Given the description of an element on the screen output the (x, y) to click on. 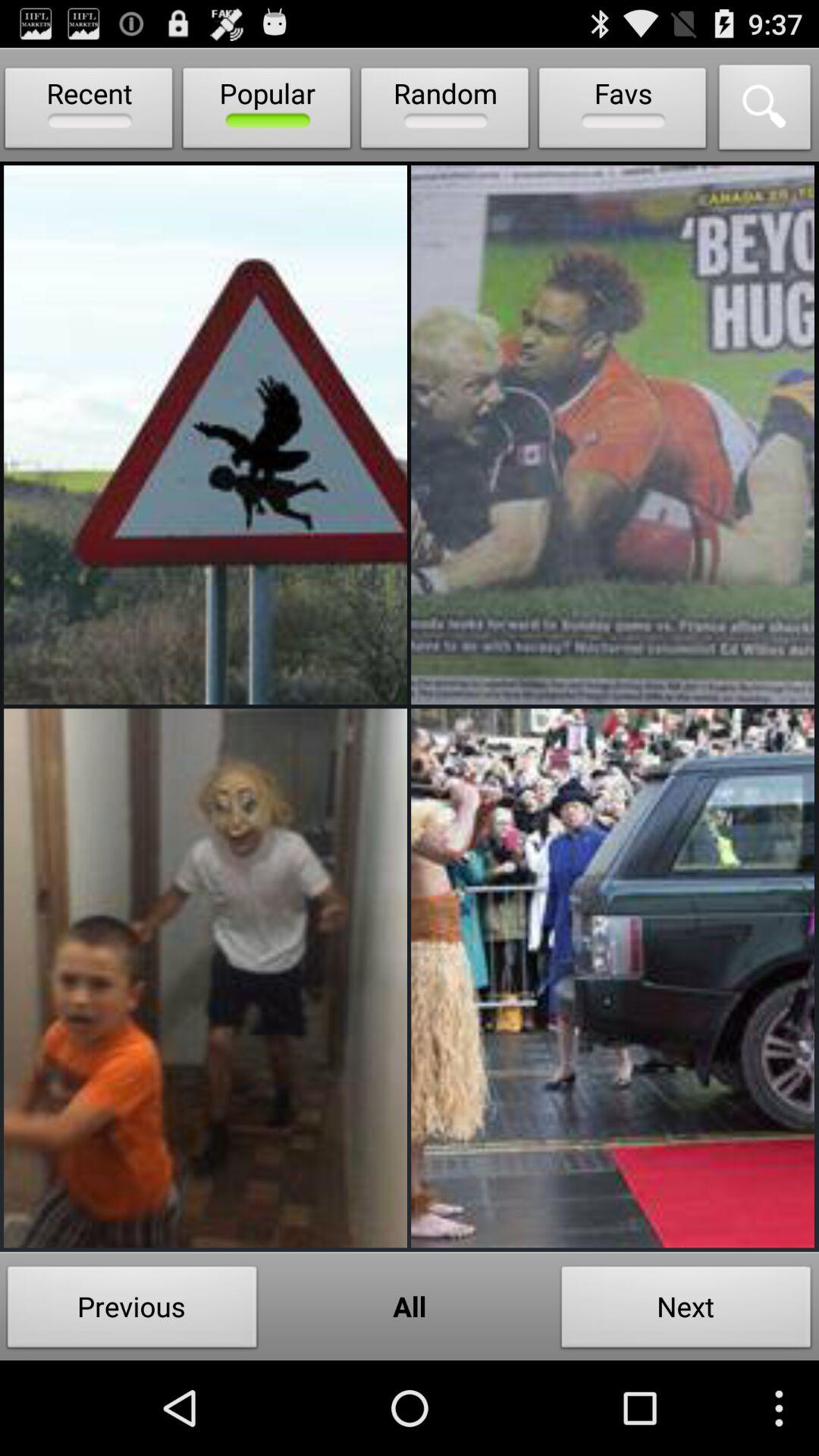
enter research terms (765, 111)
